Given the description of an element on the screen output the (x, y) to click on. 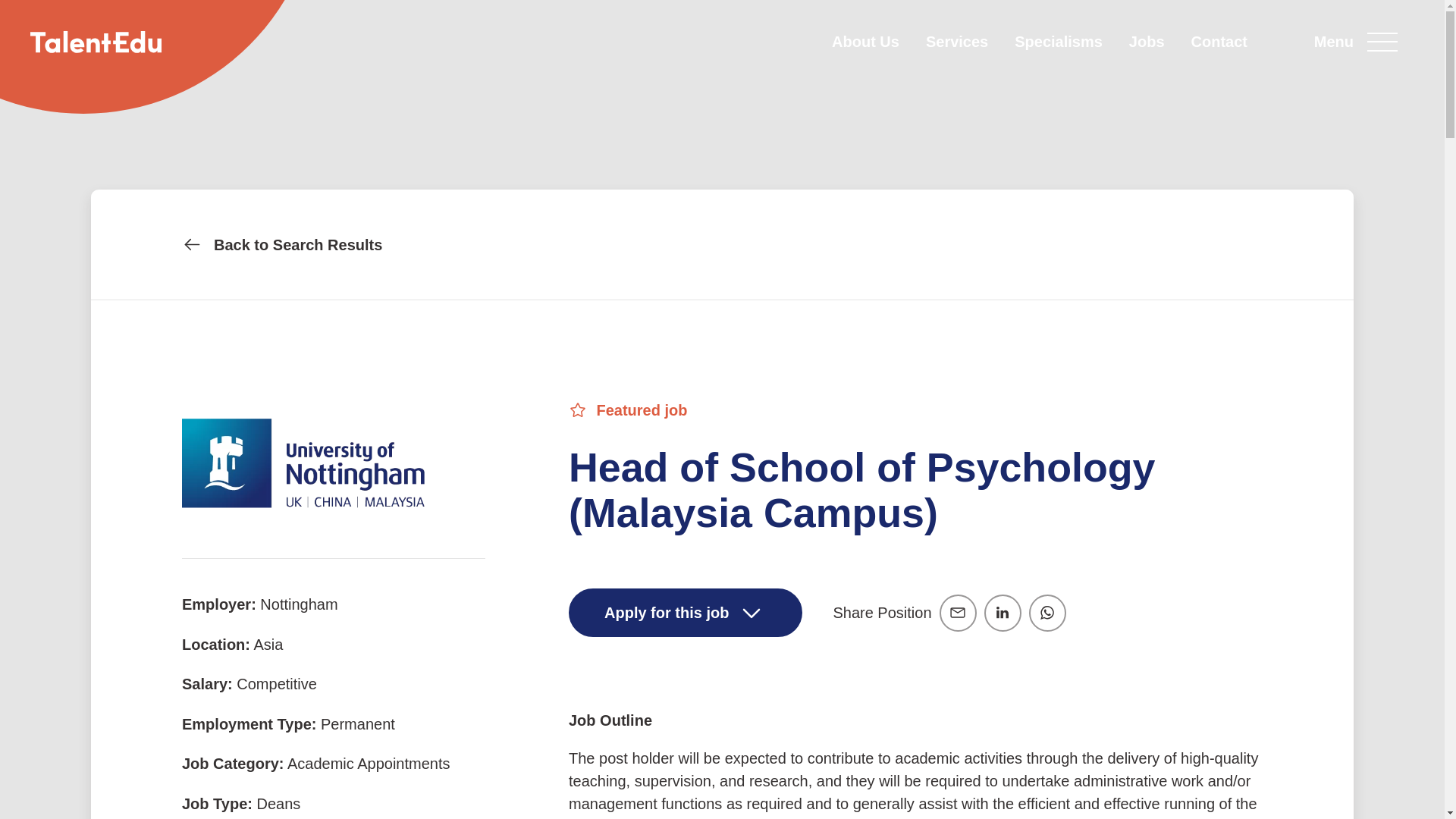
Back to Search Results (722, 244)
Contact (1219, 41)
Services (957, 41)
Menu (1363, 41)
Apply for this job (685, 612)
About Us (865, 41)
Apply for this job (685, 612)
TalentEdu (96, 41)
Specialisms (1058, 41)
